Given the description of an element on the screen output the (x, y) to click on. 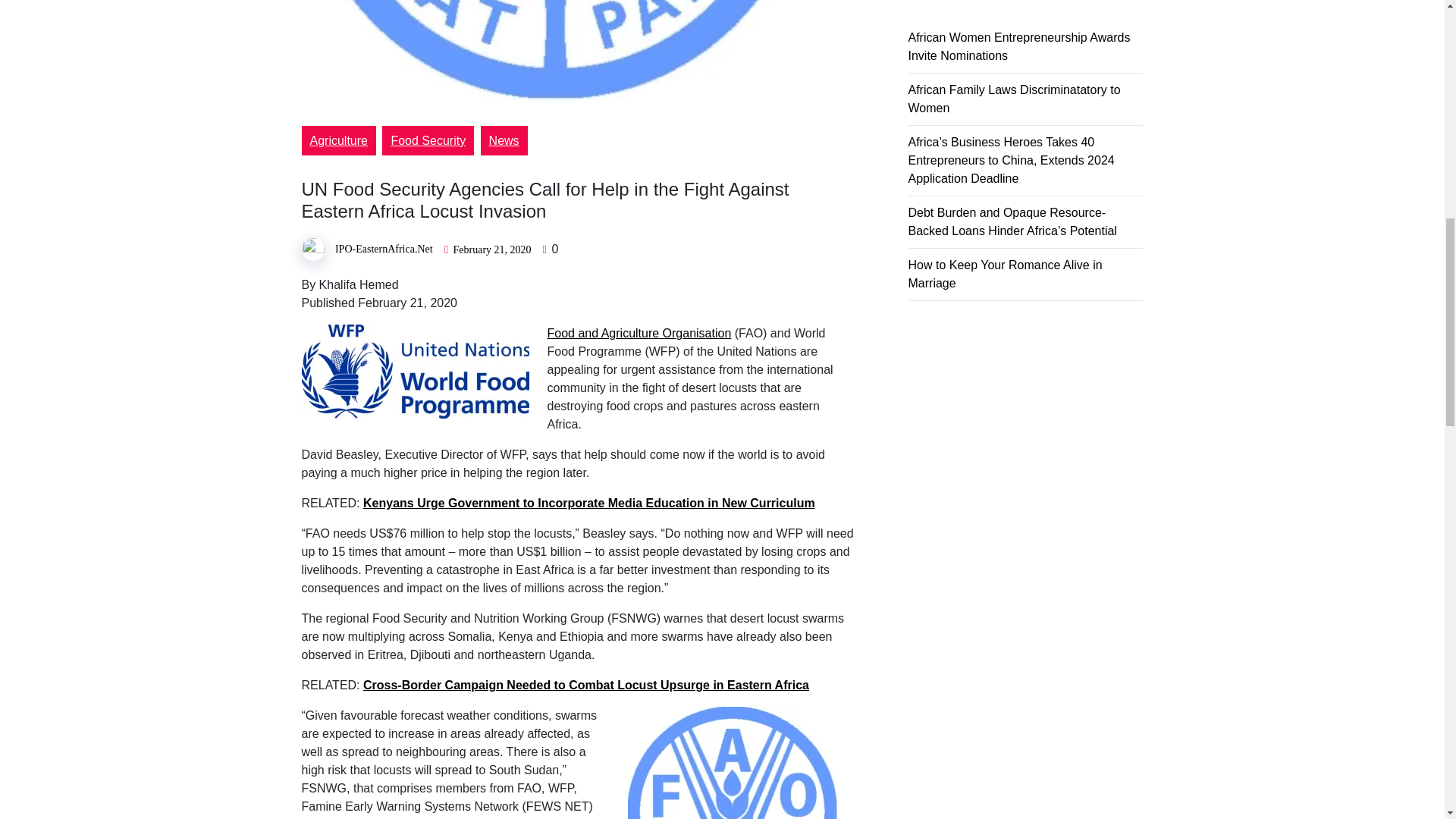
News (503, 140)
IPO-EasternAfrica.Net (383, 248)
Food and Agriculture Organisation (639, 332)
Agriculture (338, 140)
Food Security (427, 140)
February 21, 2020 (491, 249)
